Given the description of an element on the screen output the (x, y) to click on. 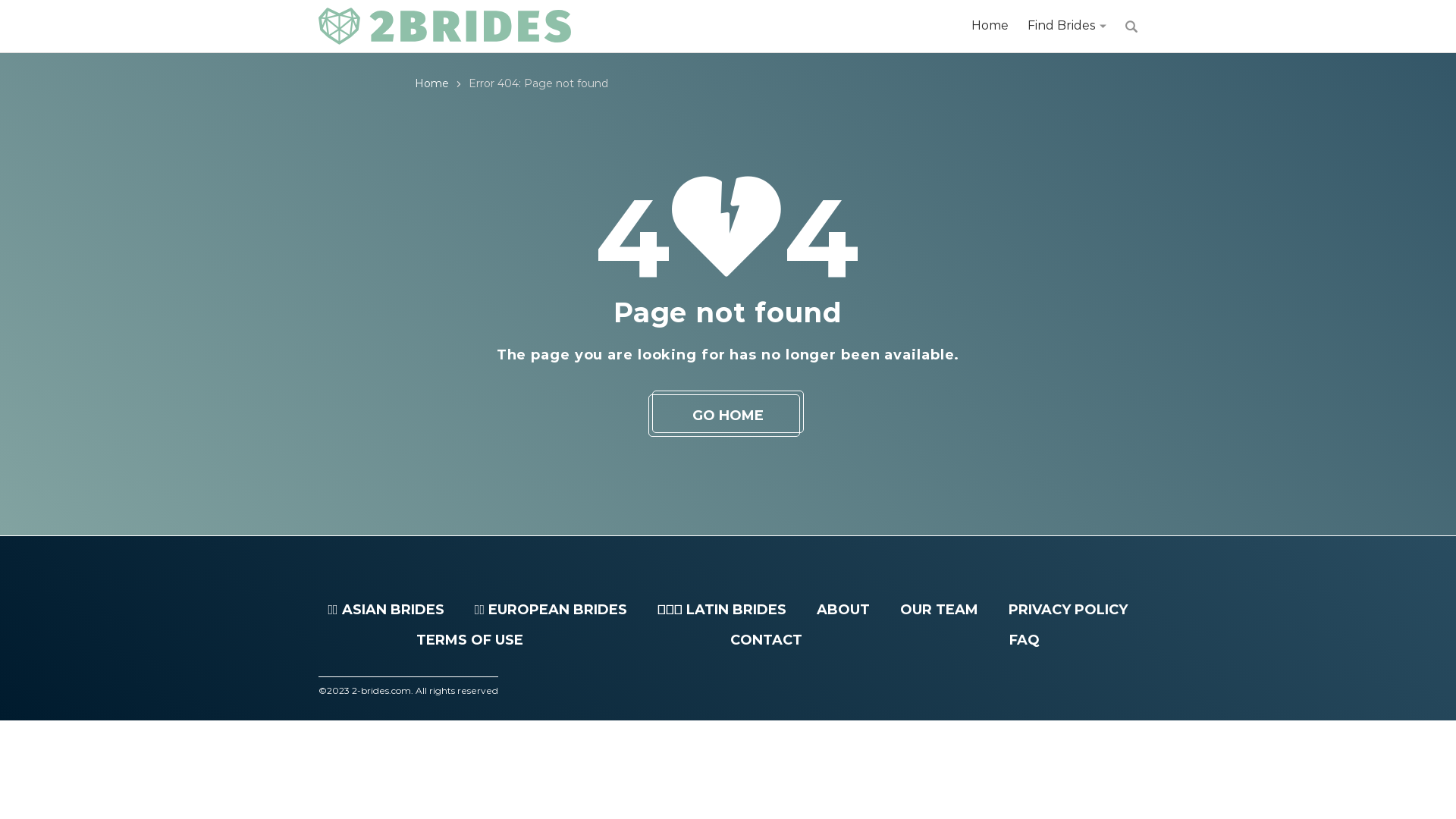
CONTACT Element type: text (766, 639)
Home Element type: text (431, 83)
ABOUT Element type: text (842, 609)
PRIVACY POLICY Element type: text (1067, 609)
FAQ Element type: text (1024, 639)
Home Element type: text (989, 26)
OUR TEAM Element type: text (939, 609)
TERMS OF USE Element type: text (469, 639)
2Brides Element type: hover (444, 26)
GO HOME Element type: text (727, 415)
